Given the description of an element on the screen output the (x, y) to click on. 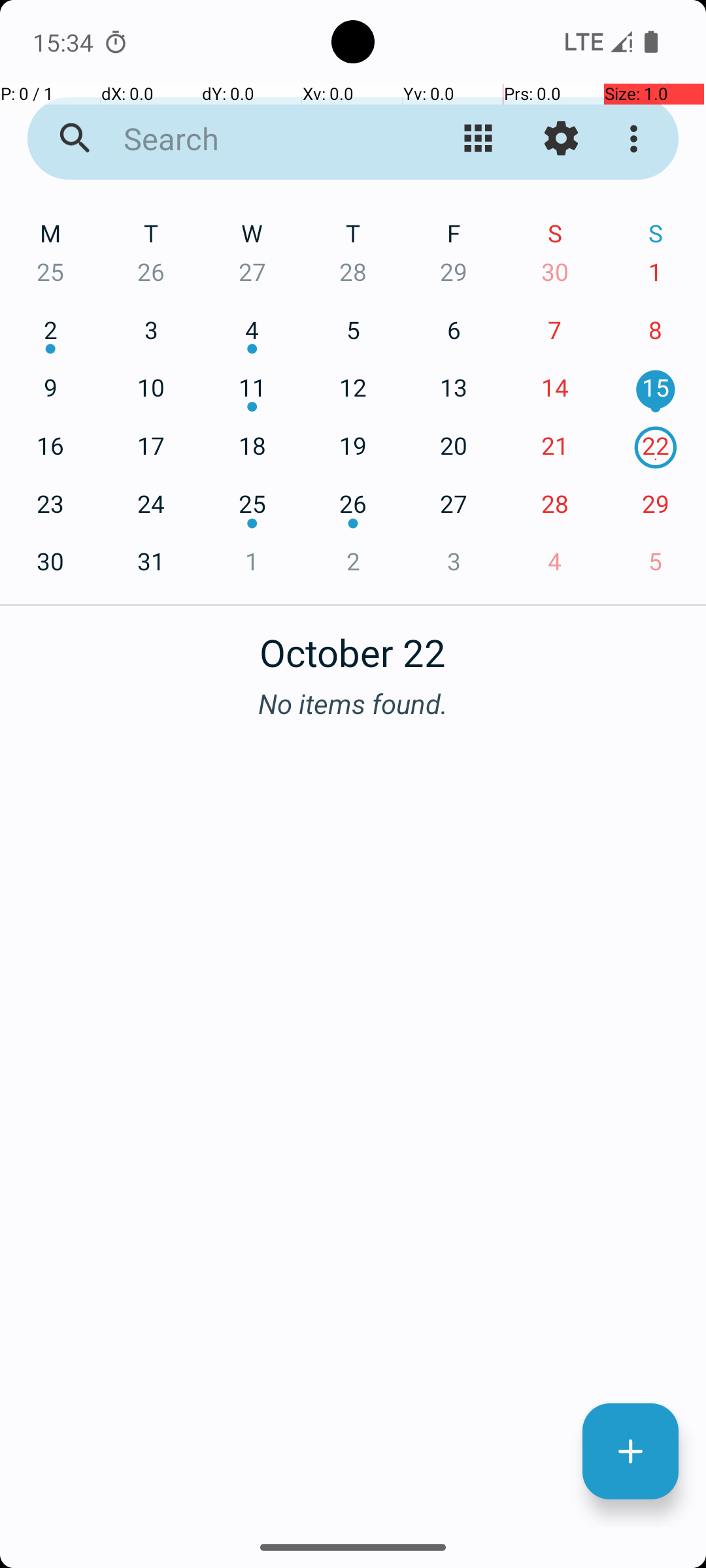
October 22 Element type: android.widget.TextView (352, 644)
